Given the description of an element on the screen output the (x, y) to click on. 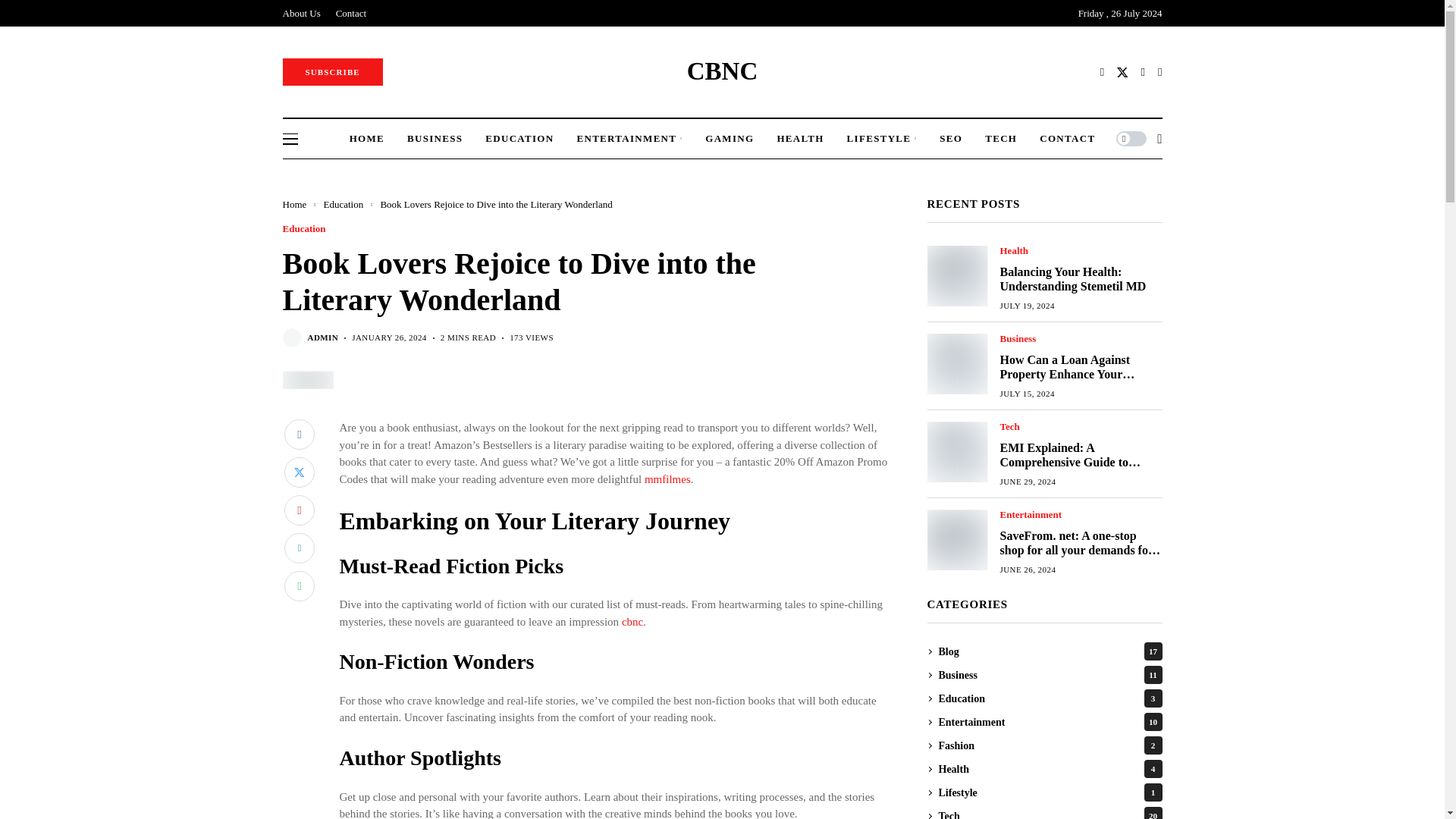
About Us (301, 13)
EDUCATION (518, 138)
GAMING (729, 138)
SEO (950, 138)
HEALTH (800, 138)
CONTACT (1066, 138)
TECH (1000, 138)
BUSINESS (435, 138)
Posts by Admin (323, 337)
ENTERTAINMENT (629, 138)
HOME (366, 138)
Contact (351, 13)
LIFESTYLE (882, 138)
SUBSCRIBE (331, 71)
CBNC (722, 71)
